Given the description of an element on the screen output the (x, y) to click on. 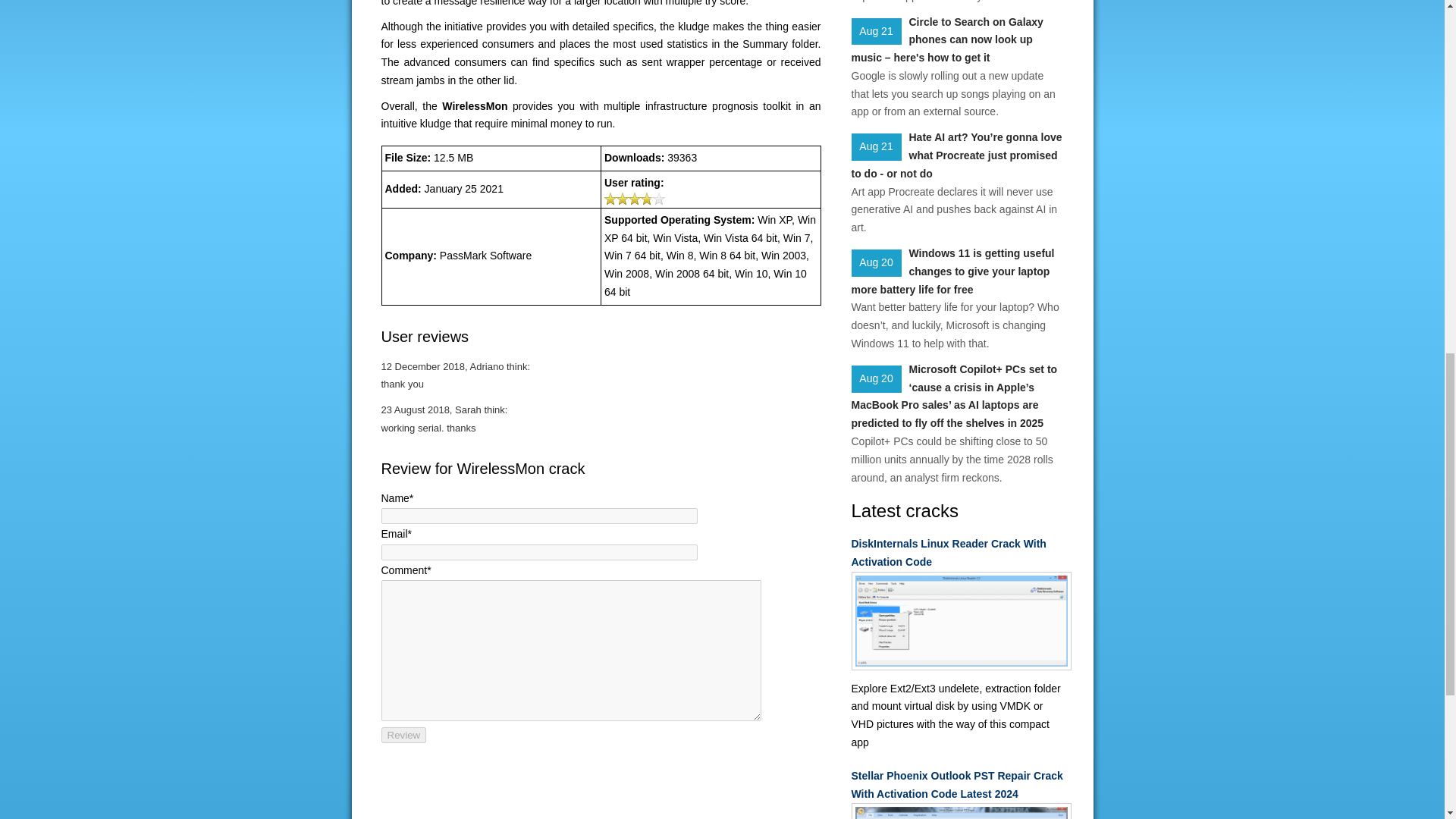
Review (403, 734)
Review (403, 734)
DiskInternals Linux Reader Crack With Activation Code (956, 553)
